Given the description of an element on the screen output the (x, y) to click on. 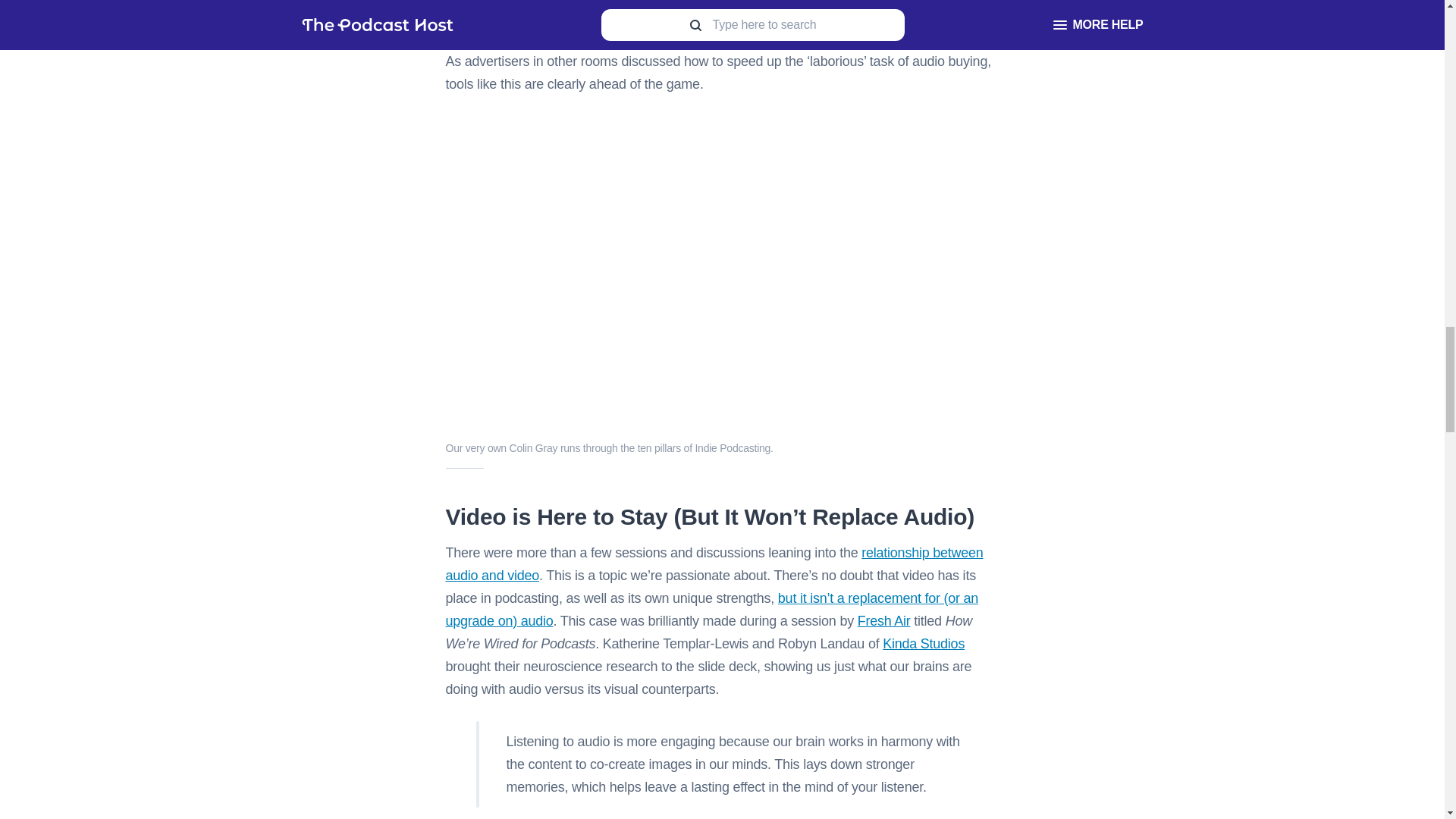
Fresh Air (884, 620)
Kinda Studios (922, 643)
relationship between audio and video (714, 564)
